Given the description of an element on the screen output the (x, y) to click on. 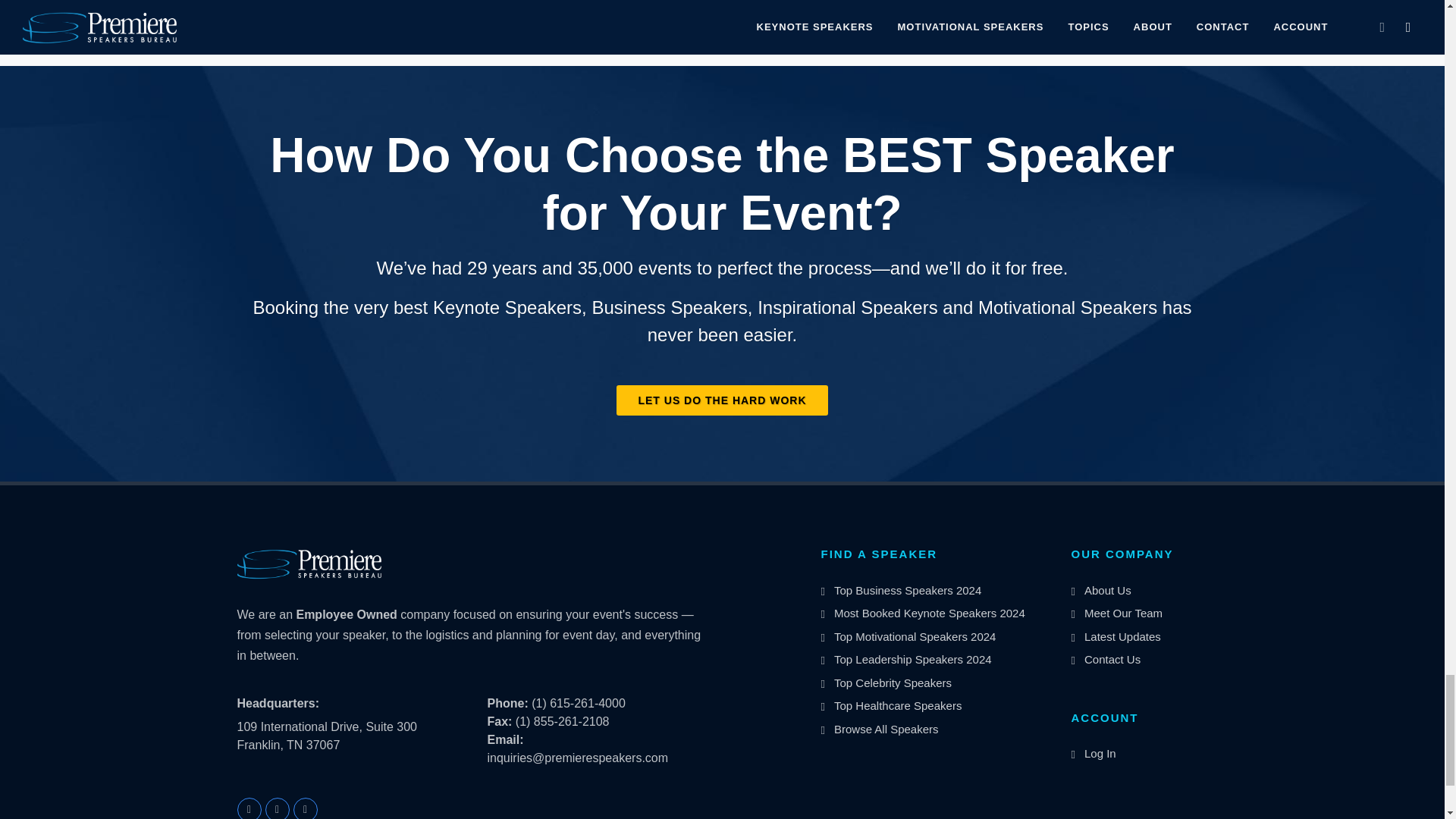
Phone Number (506, 703)
Email Address (504, 739)
Fax (499, 721)
Headquarters (276, 703)
